Given the description of an element on the screen output the (x, y) to click on. 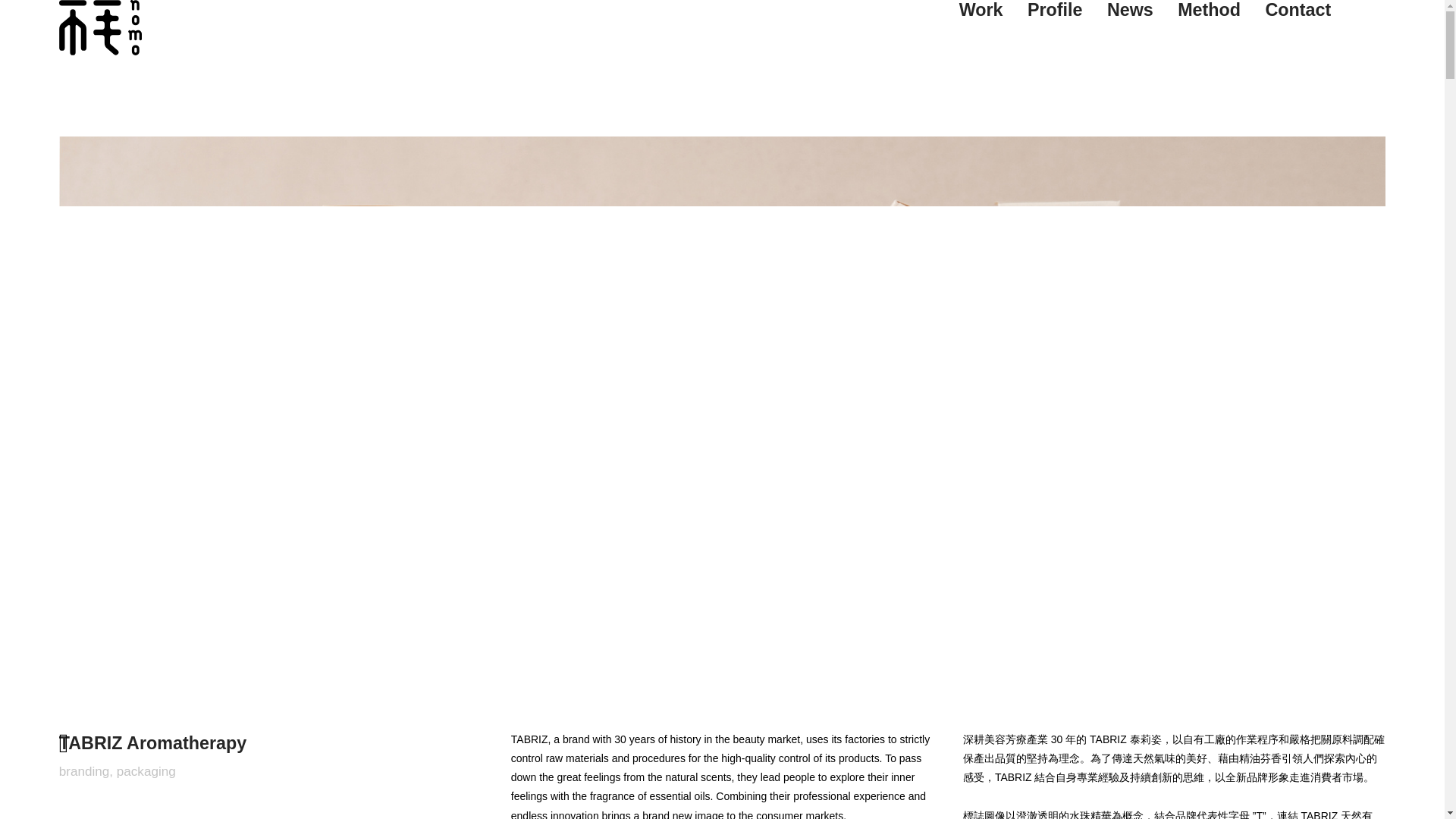
Contact (1297, 10)
Work (981, 10)
packaging (146, 772)
Profile (1055, 10)
News (1129, 10)
Method (1208, 10)
branding, (86, 772)
